Given the description of an element on the screen output the (x, y) to click on. 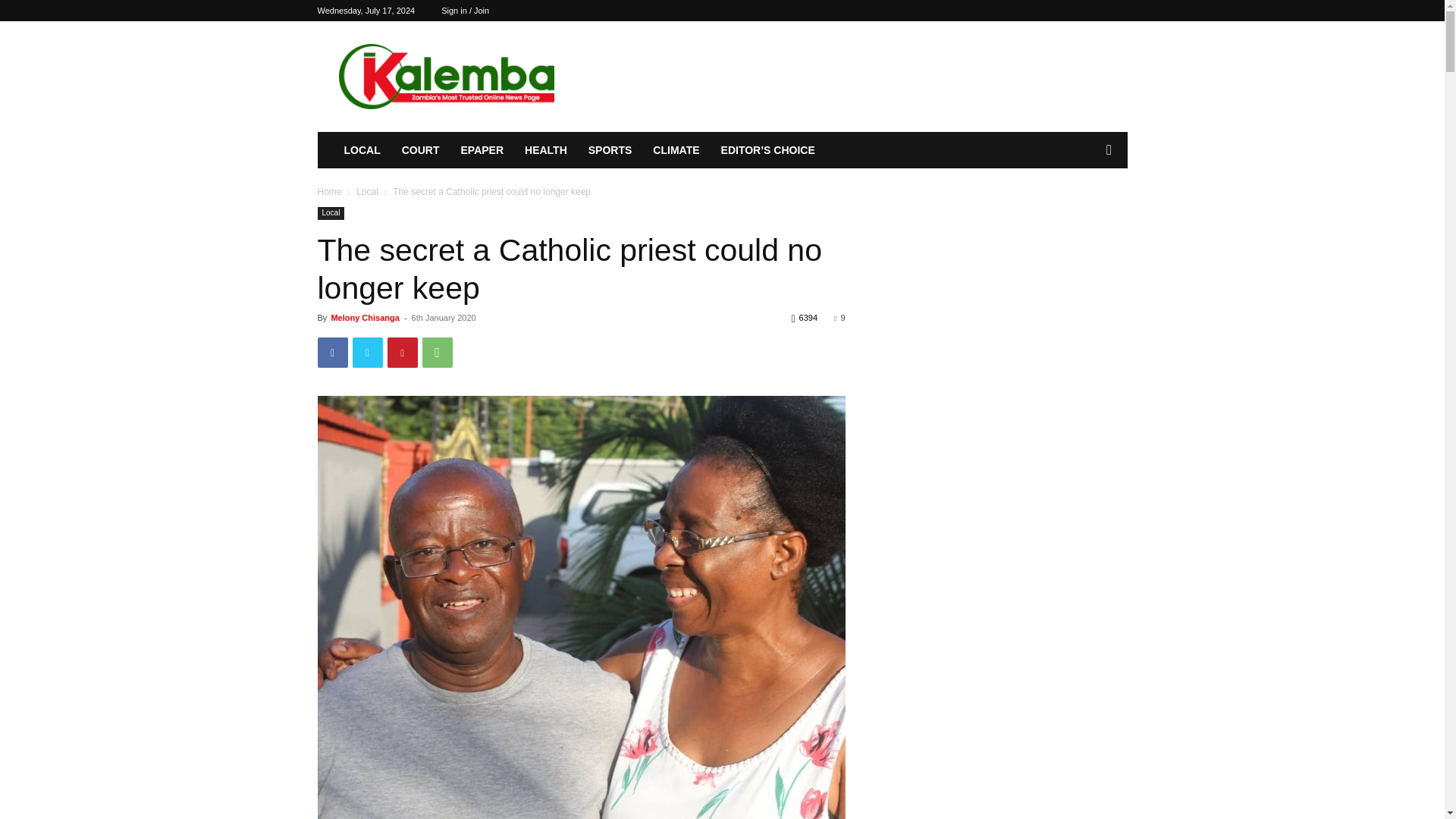
Twitter (366, 352)
Facebook (332, 352)
LOCAL (362, 149)
SPORTS (610, 149)
Pinterest (401, 352)
Local (330, 213)
Melony Chisanga (364, 317)
HEALTH (545, 149)
Local (367, 191)
WhatsApp (436, 352)
COURT (420, 149)
View all posts in Local (367, 191)
9 (839, 317)
EPAPER (482, 149)
